Given the description of an element on the screen output the (x, y) to click on. 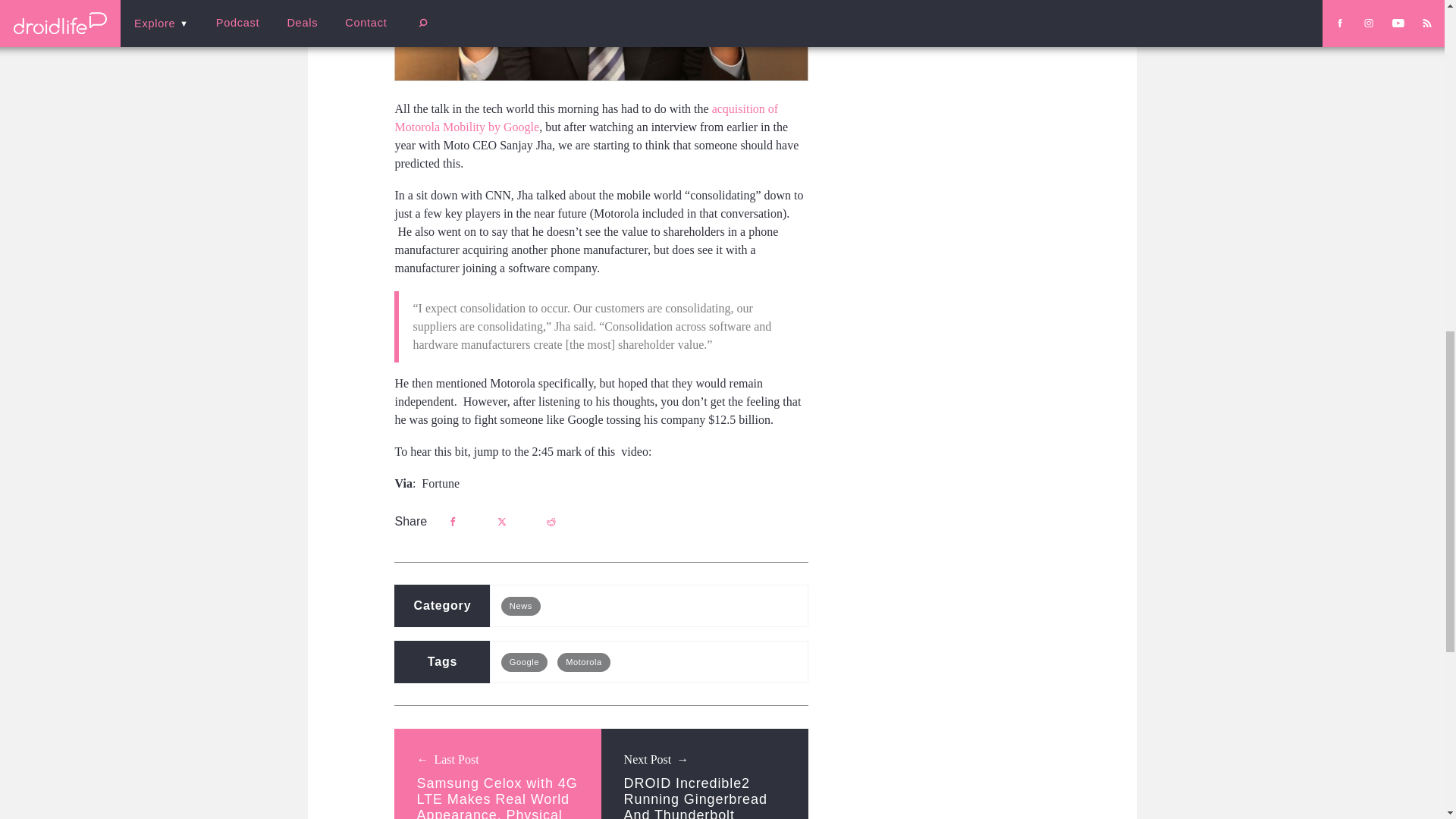
sanjay jha (601, 40)
